Given the description of an element on the screen output the (x, y) to click on. 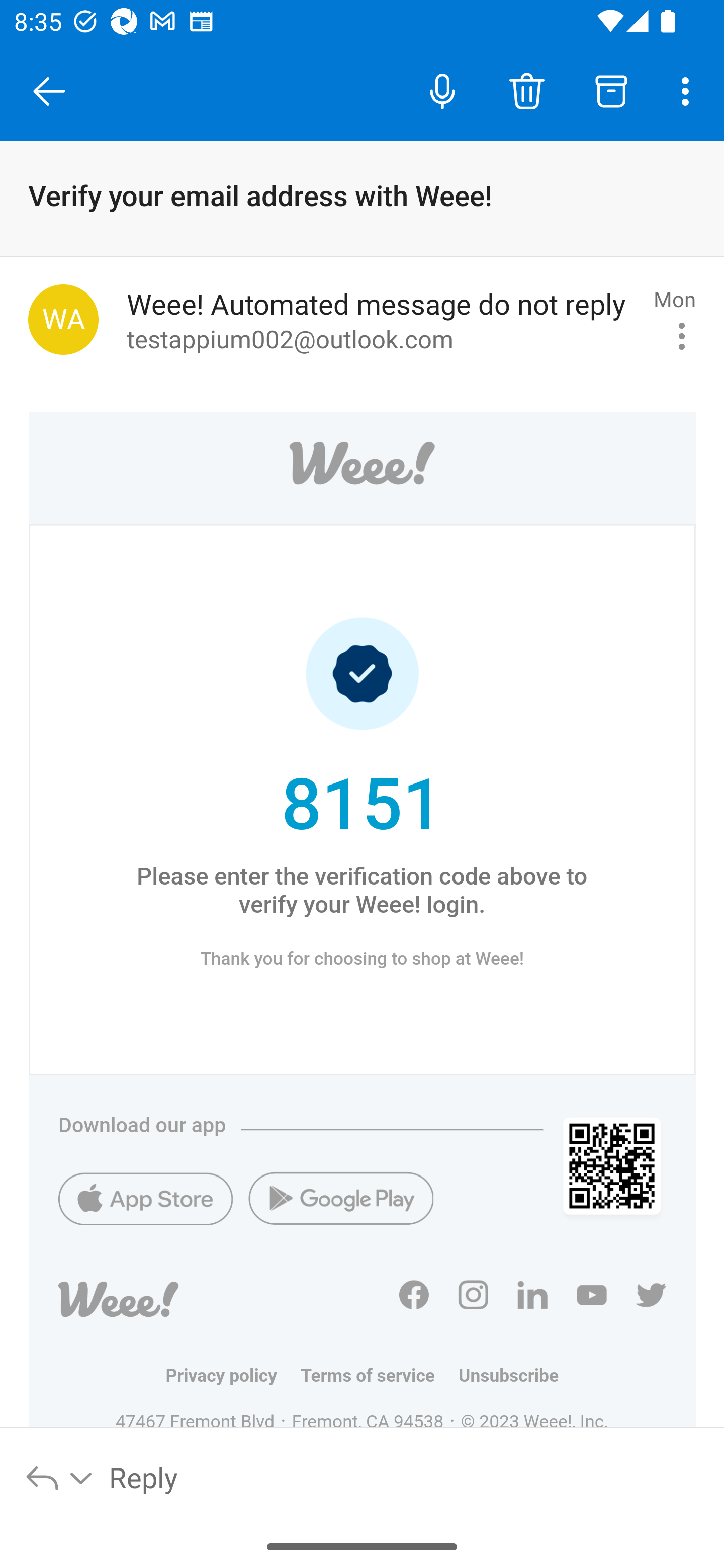
Close (49, 91)
Delete (526, 90)
Archive (611, 90)
More options (688, 90)
Message actions (681, 336)
image (362, 468)
image (145, 1203)
image (340, 1203)
?ref=aymt_homepage_panel (428, 1296)
sayweee_official (487, 1296)
weee- (546, 1296)
UCmtycD943w_ZI2illCA9tvA (606, 1296)
weee_official (651, 1296)
image (152, 1299)
Privacy policy (232, 1375)
Terms of service (379, 1375)
Unsubscribe (509, 1375)
Reply options (59, 1476)
